Given the description of an element on the screen output the (x, y) to click on. 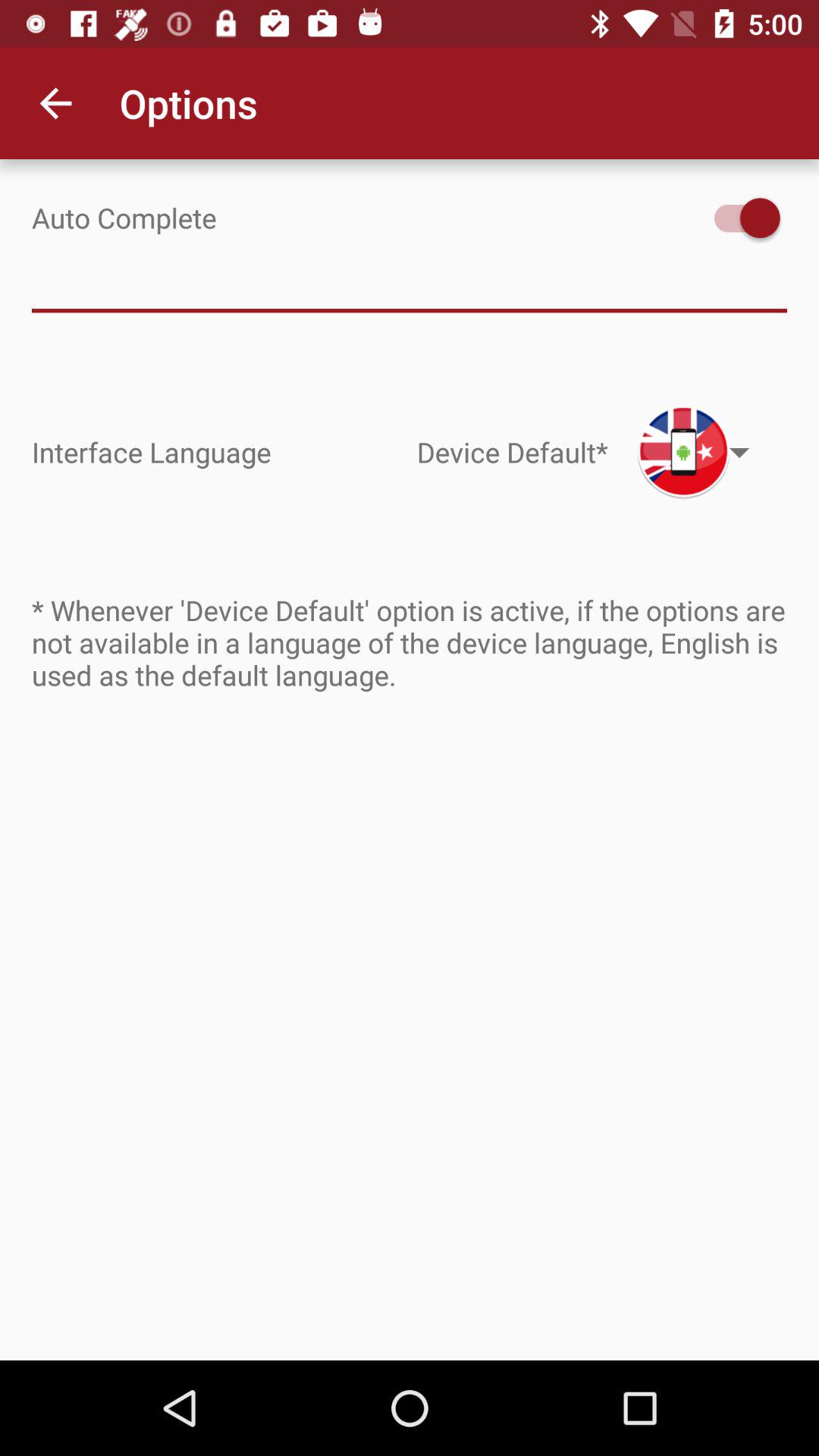
deselect auto complete (739, 218)
